Given the description of an element on the screen output the (x, y) to click on. 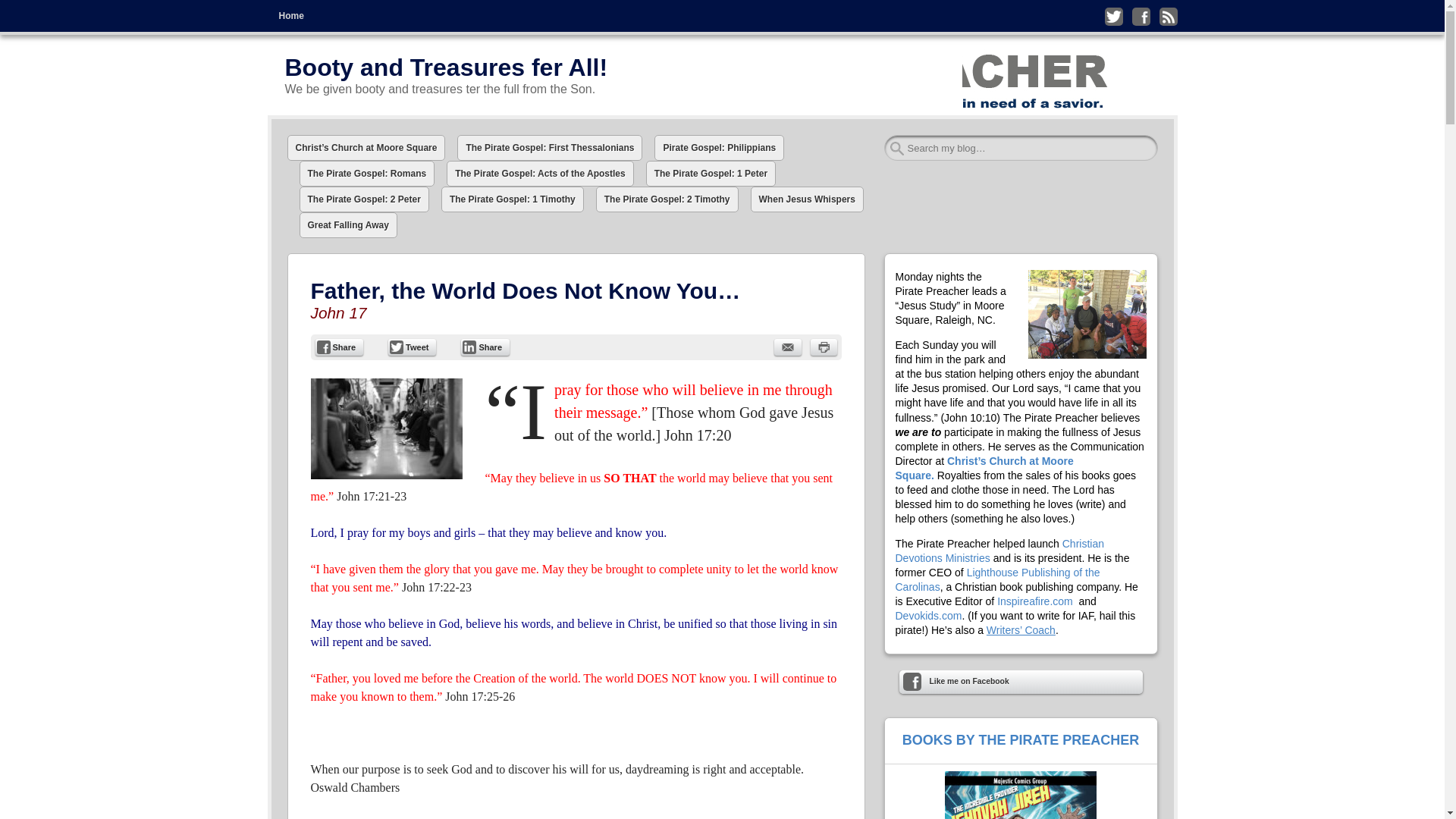
Share on Facebook (339, 347)
Search (31, 17)
The Pirate Gospel: 2 Timothy (666, 199)
Share on LinkedIn (485, 347)
Share (339, 347)
The Pirate Gospel: 1 Timothy (512, 199)
Subscribe to my RSS Feed (1167, 16)
The Pirate Gospel: 1 Peter (711, 173)
Skip to content (299, 10)
email (786, 347)
Booty and Treasures fer All! (446, 67)
Lighthouse Publishing of the Carolinas (997, 579)
Follow me on Twitter (1112, 16)
Tweet (411, 347)
Pirate Gospel: Philippians (718, 147)
